Given the description of an element on the screen output the (x, y) to click on. 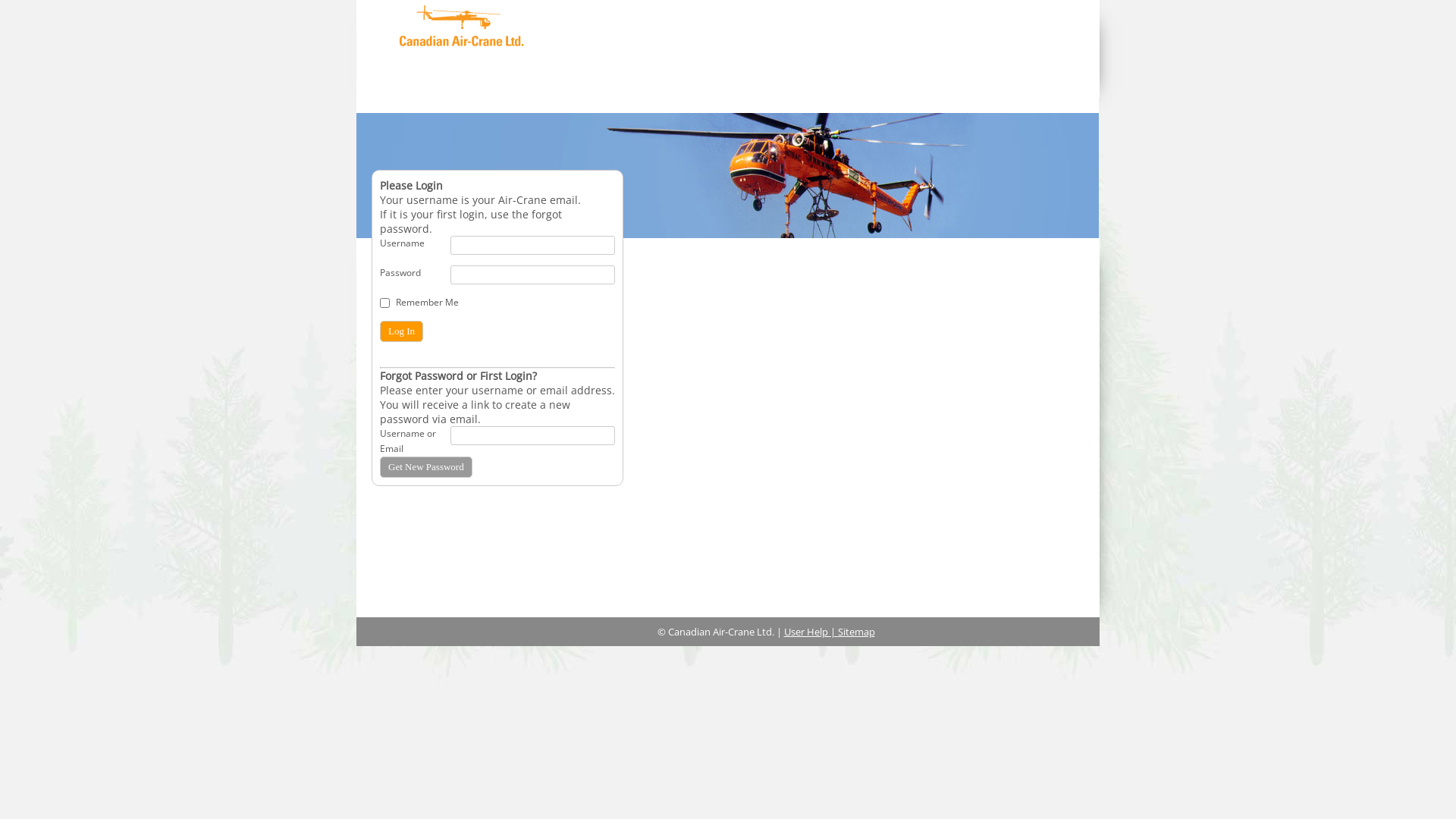
Sitemap Element type: text (855, 631)
Get New Password Element type: text (425, 466)
Log In Element type: text (401, 331)
User Help | Element type: text (810, 631)
